Given the description of an element on the screen output the (x, y) to click on. 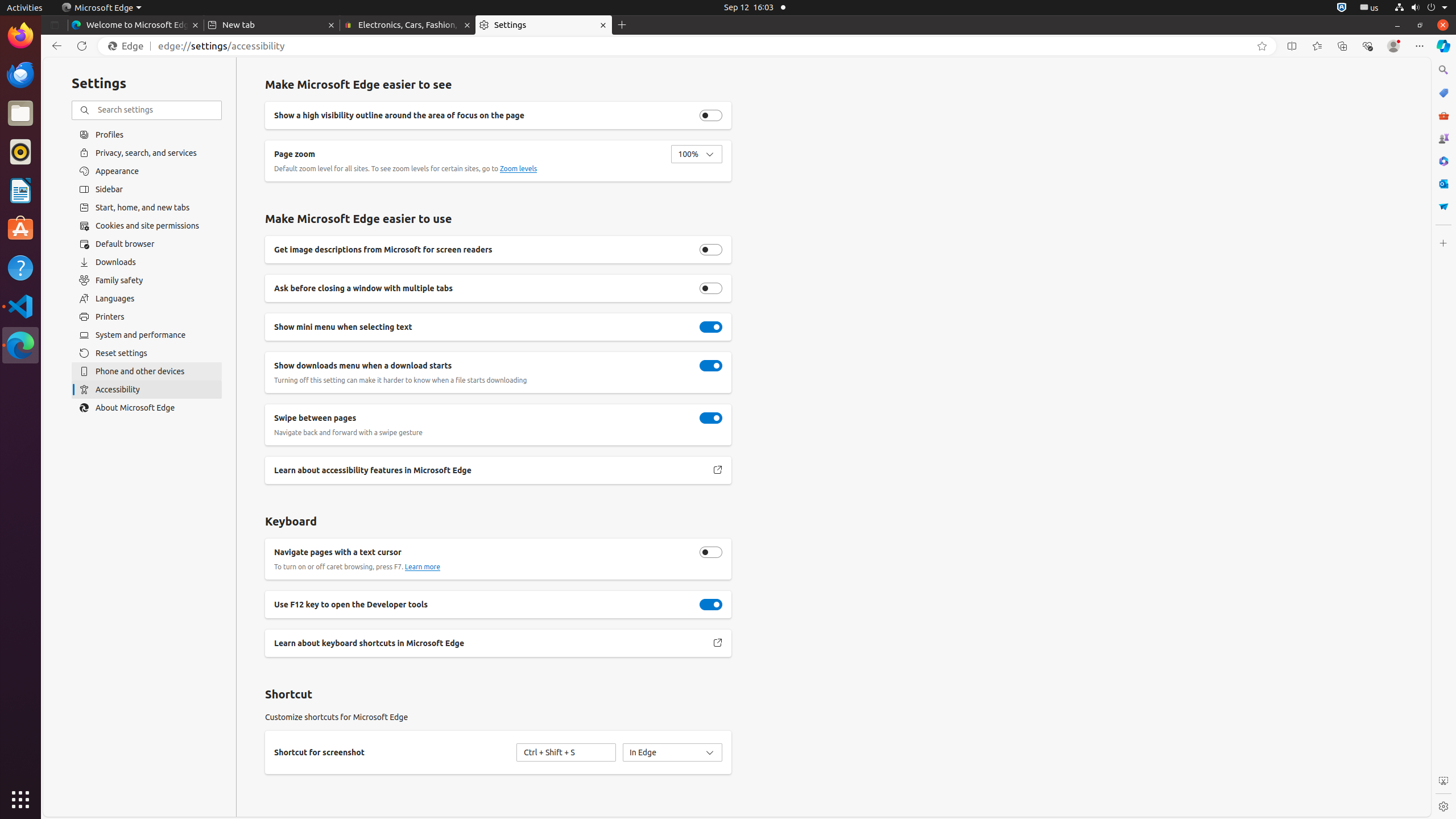
Copilot (Ctrl+Shift+.) Element type: push-button (1443, 45)
Reset settings Element type: tree-item (146, 353)
Split screen Element type: push-button (1291, 45)
Settings and more (Alt+F) Element type: push-button (1419, 45)
Microsoft Shopping Element type: push-button (1443, 92)
